Given the description of an element on the screen output the (x, y) to click on. 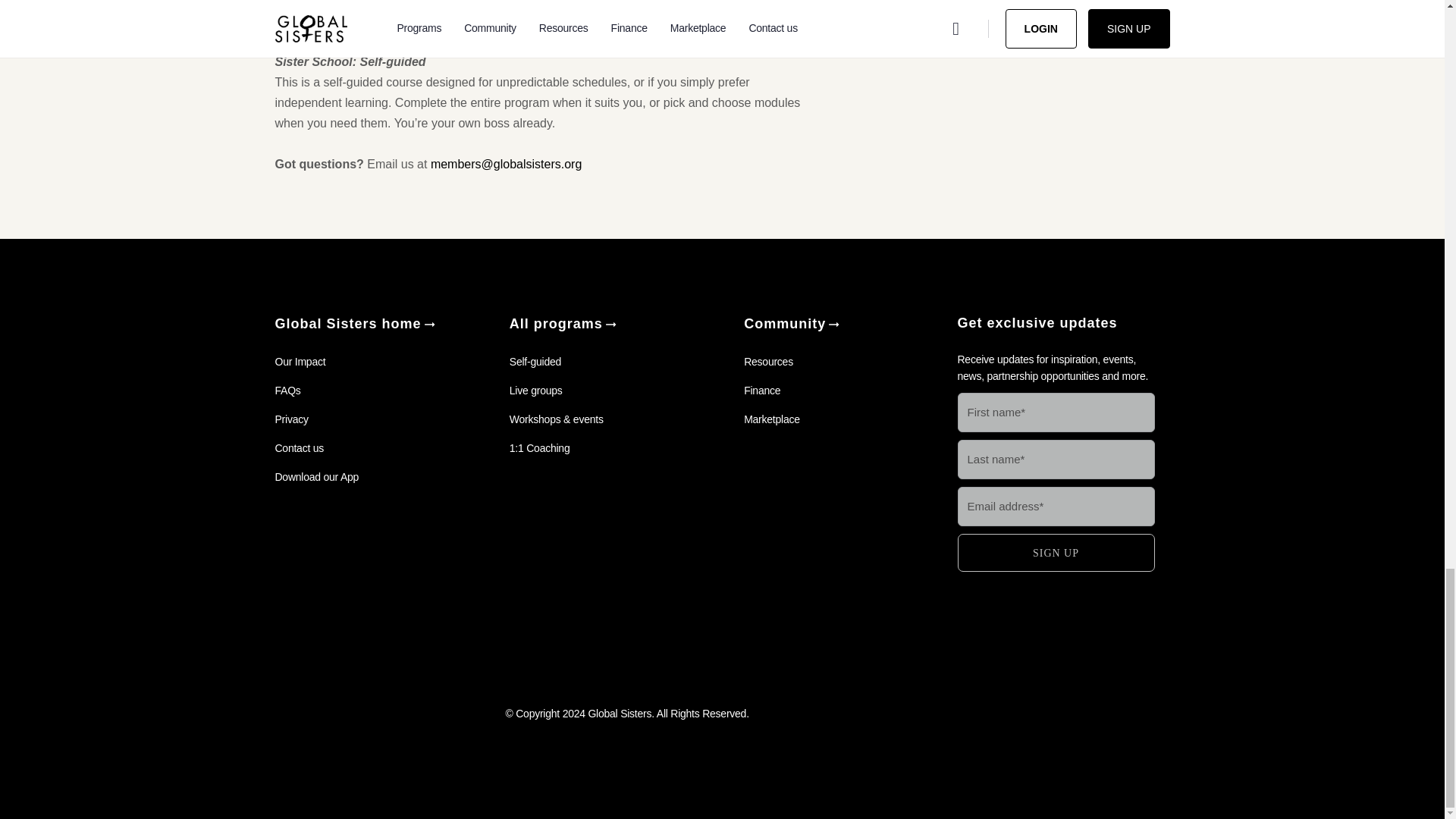
SIGN UP (1055, 552)
